Given the description of an element on the screen output the (x, y) to click on. 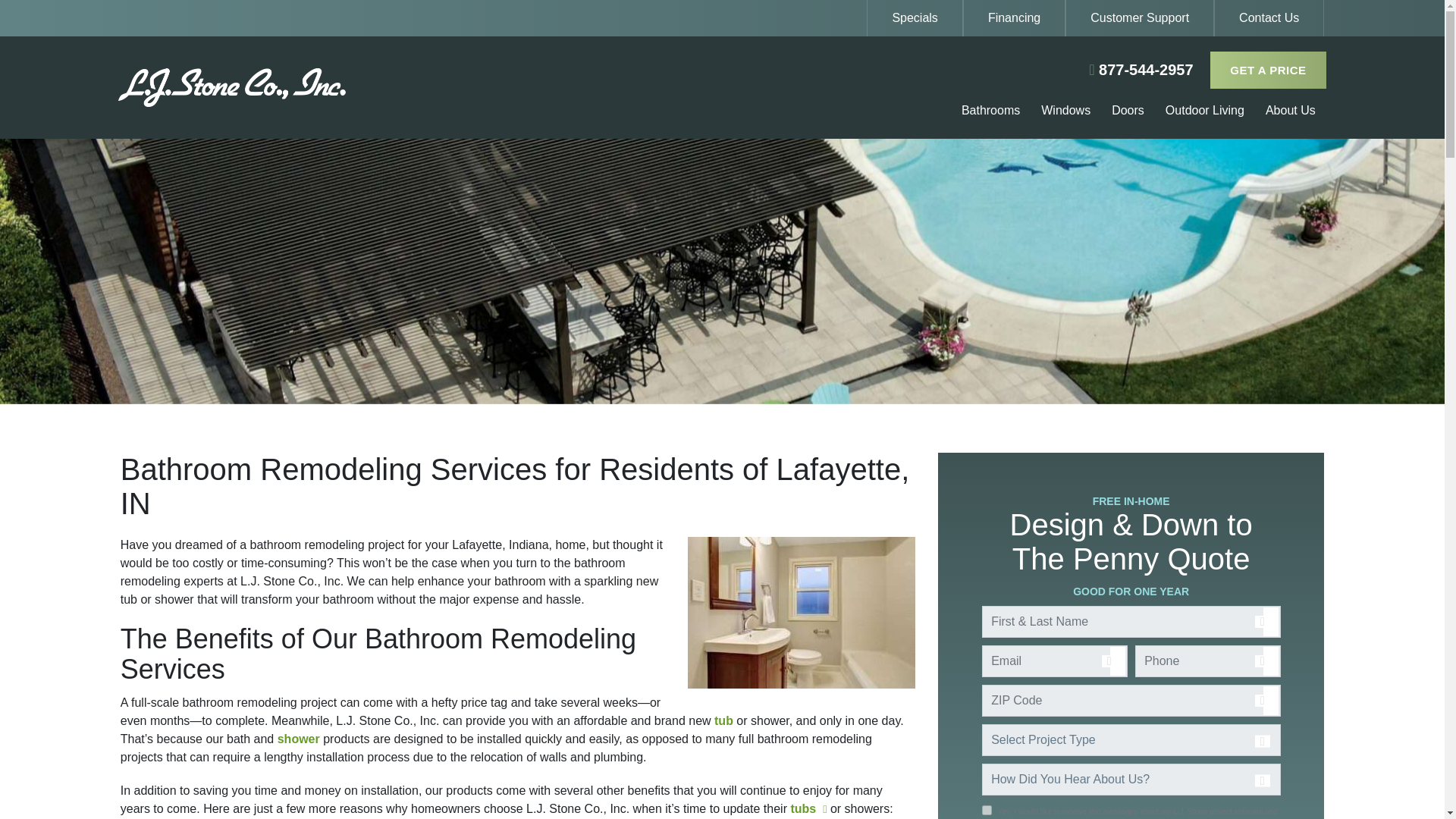
Bathroom Remodeling Lafayette IN (801, 612)
L. J.  Stone Company, Inc. (319, 87)
